Given the description of an element on the screen output the (x, y) to click on. 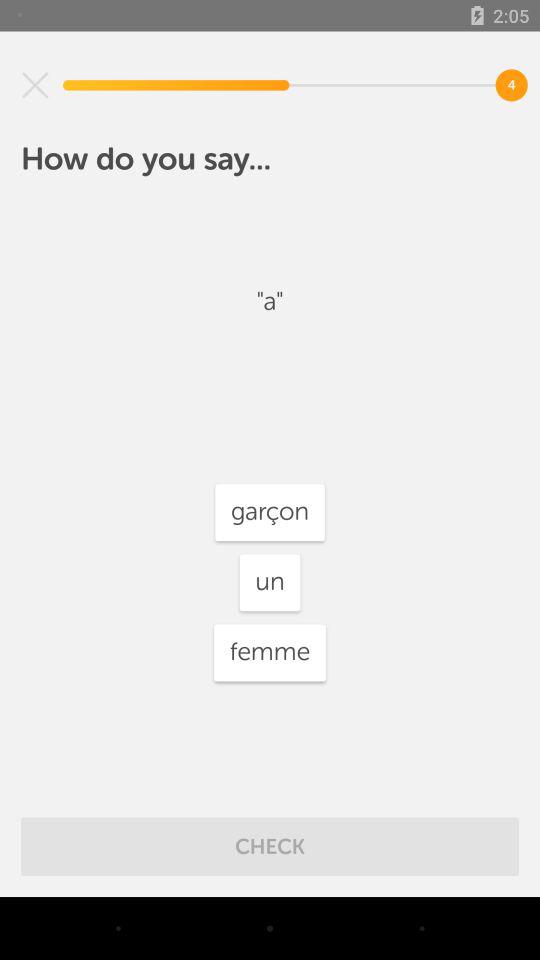
launch item below un (269, 652)
